Given the description of an element on the screen output the (x, y) to click on. 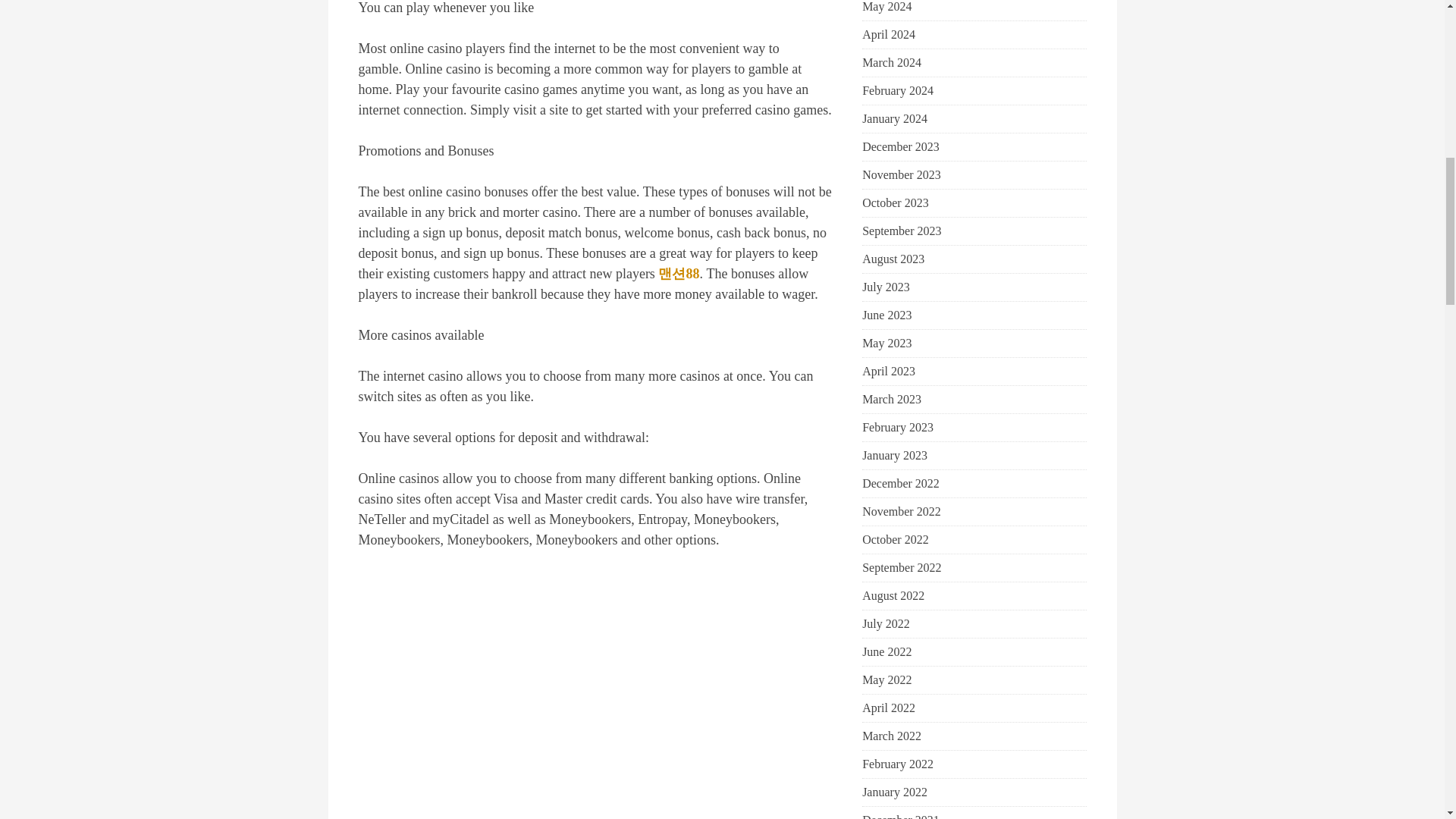
March 2023 (891, 399)
May 2023 (886, 343)
December 2023 (900, 147)
August 2023 (892, 259)
July 2023 (885, 287)
February 2023 (897, 427)
November 2023 (900, 175)
June 2023 (886, 315)
October 2023 (894, 203)
January 2023 (894, 455)
April 2023 (888, 371)
February 2024 (897, 90)
May 2024 (886, 7)
November 2022 (900, 511)
April 2024 (888, 34)
